Given the description of an element on the screen output the (x, y) to click on. 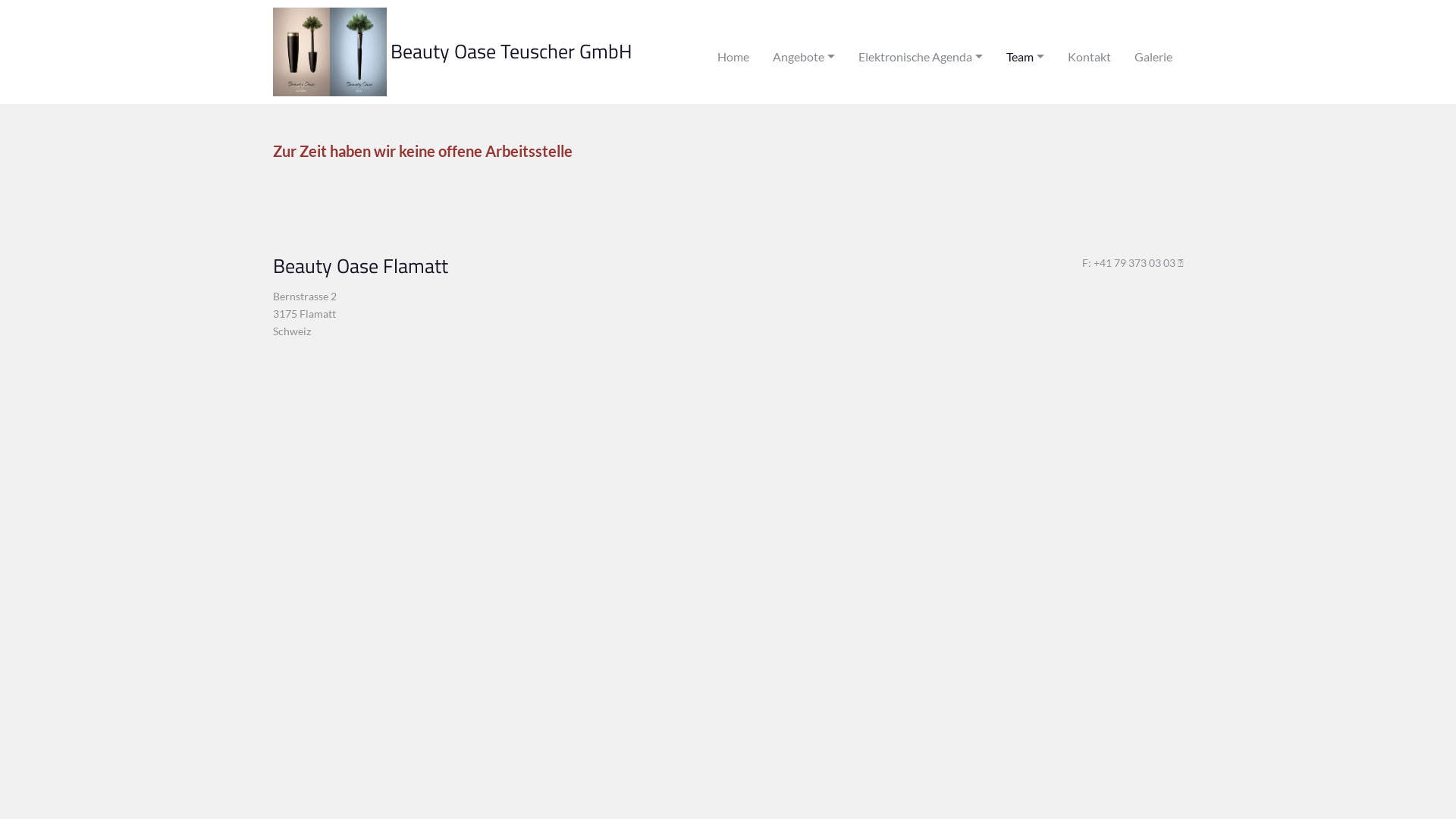
Beauty Oase Flamatt Element type: hover (329, 51)
F: +41 79 373 03 03 Element type: text (1132, 262)
Beauty Oase Flamatt Element type: text (360, 269)
Galerie Element type: text (1153, 51)
Kontakt Element type: text (1089, 51)
Home Element type: text (738, 51)
Beauty Oase Teuscher GmbH Element type: text (511, 50)
